Given the description of an element on the screen output the (x, y) to click on. 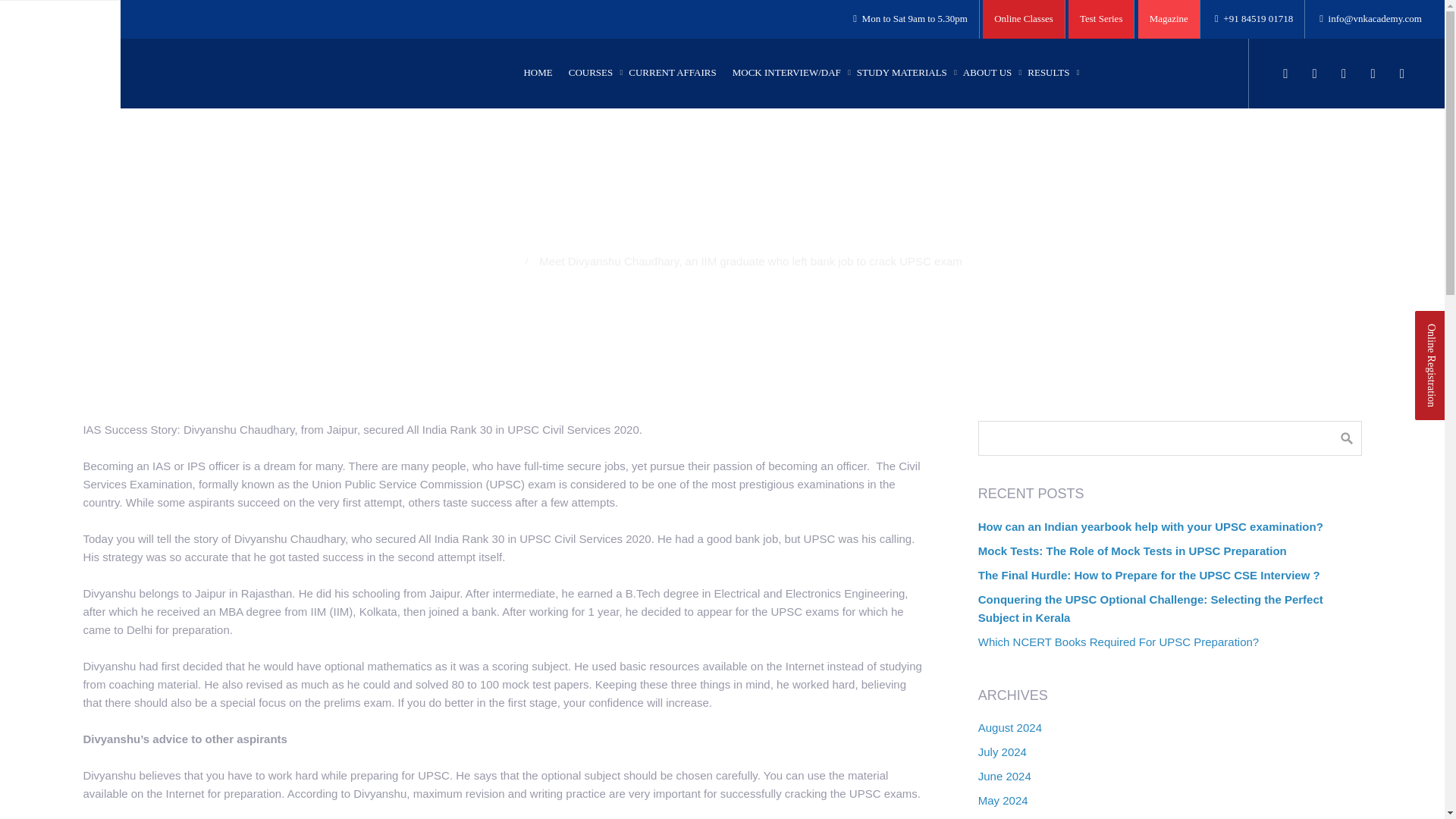
Magazine (1169, 18)
ABOUT US (986, 73)
  Mon to Sat 9am to 5.30pm (910, 18)
HOME (536, 73)
COURSES (591, 73)
STUDY MATERIALS (901, 73)
Test Series (1101, 18)
Online Classes (1023, 18)
CURRENT AFFAIRS (672, 73)
